Given the description of an element on the screen output the (x, y) to click on. 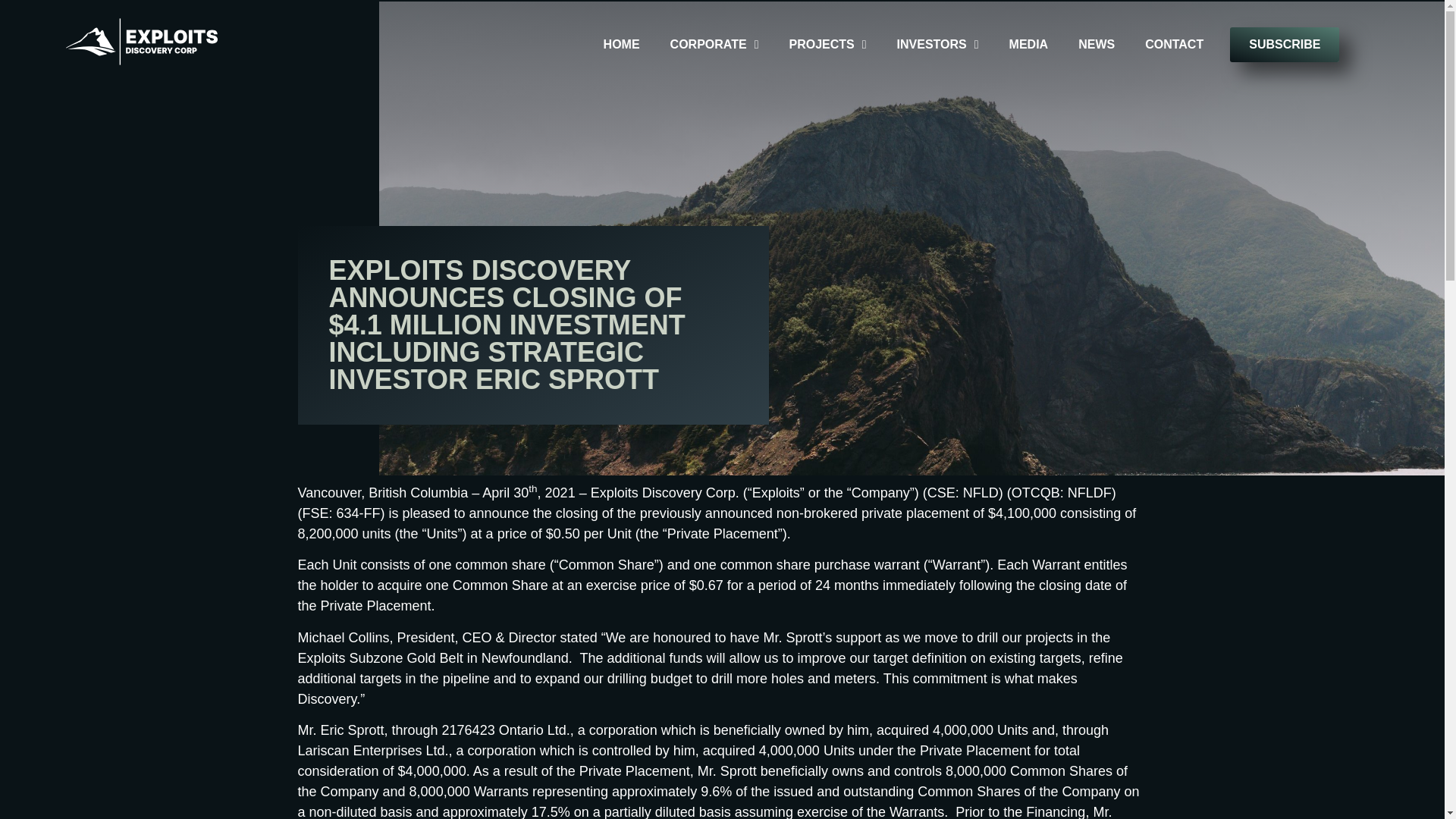
PROJECTS (827, 44)
HOME (621, 44)
CONTACT (1174, 44)
NEWS (1096, 44)
MEDIA (1028, 44)
CORPORATE (714, 44)
INVESTORS (937, 44)
